Given the description of an element on the screen output the (x, y) to click on. 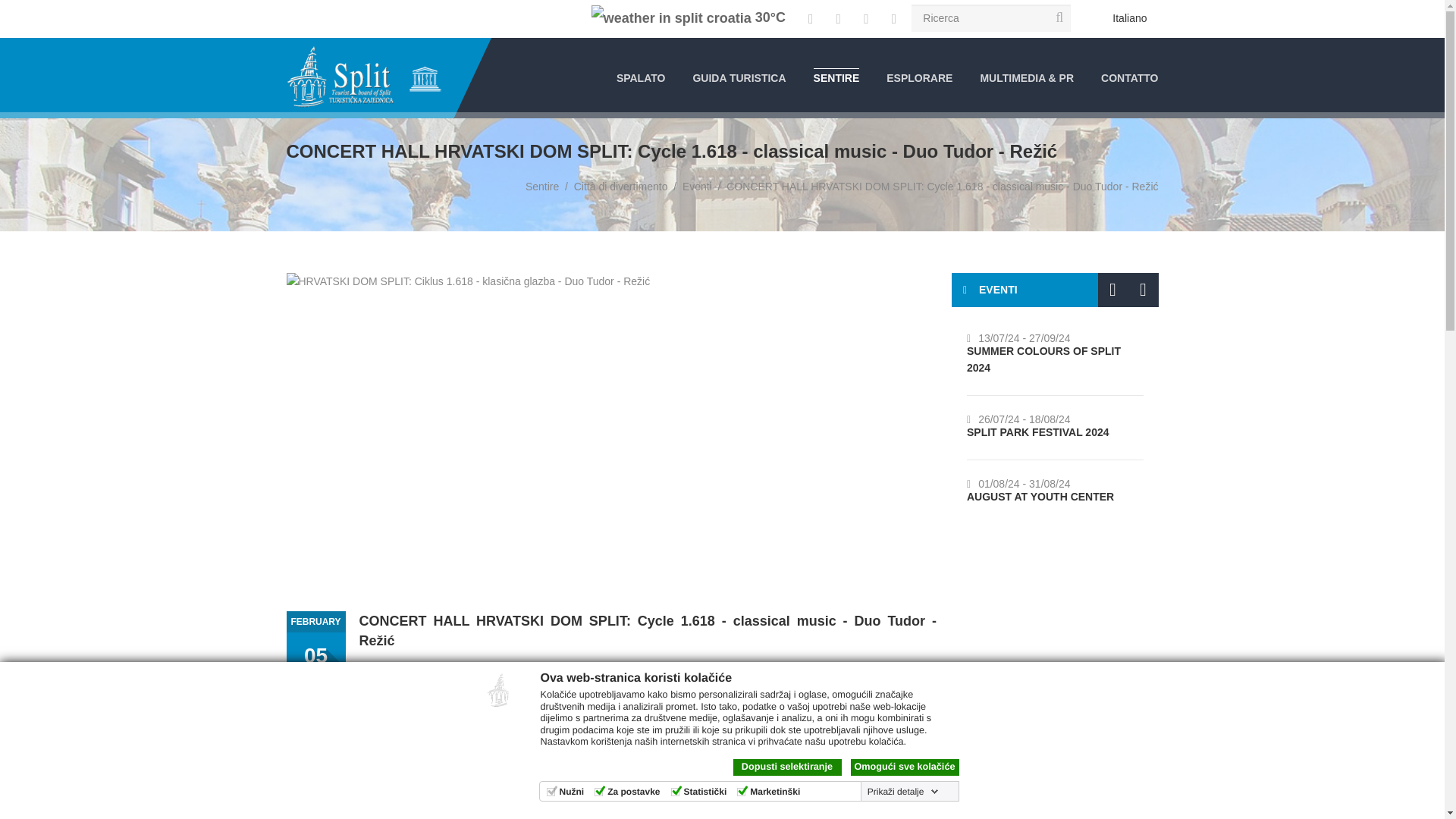
Ricerca (990, 17)
Dopusti selektiranje (786, 767)
Ricerca (990, 17)
